Given the description of an element on the screen output the (x, y) to click on. 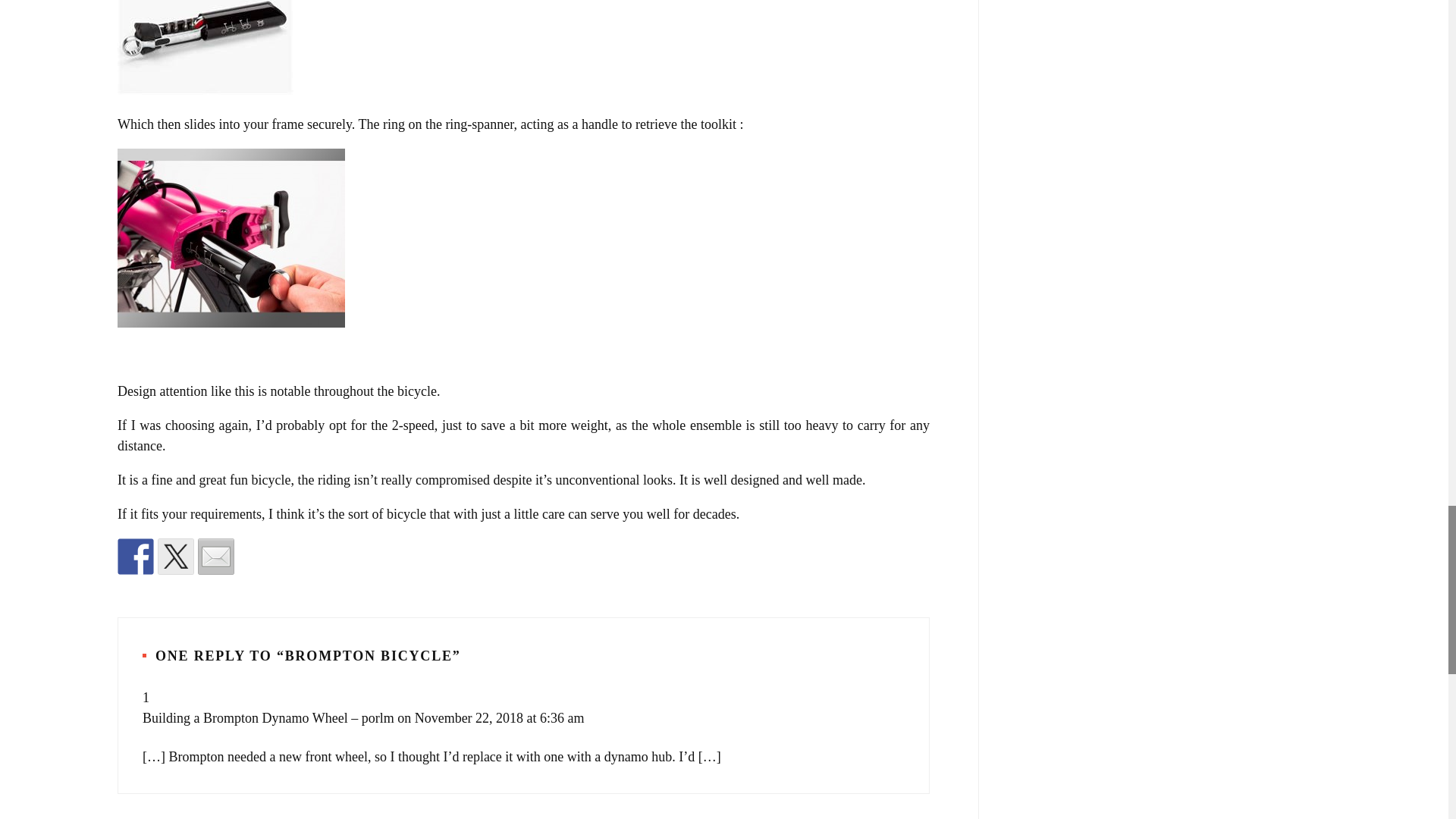
Share by email (216, 556)
Share on Twitter (175, 556)
Share on Facebook (135, 556)
on November 22, 2018 at 6:36 am (490, 717)
